Given the description of an element on the screen output the (x, y) to click on. 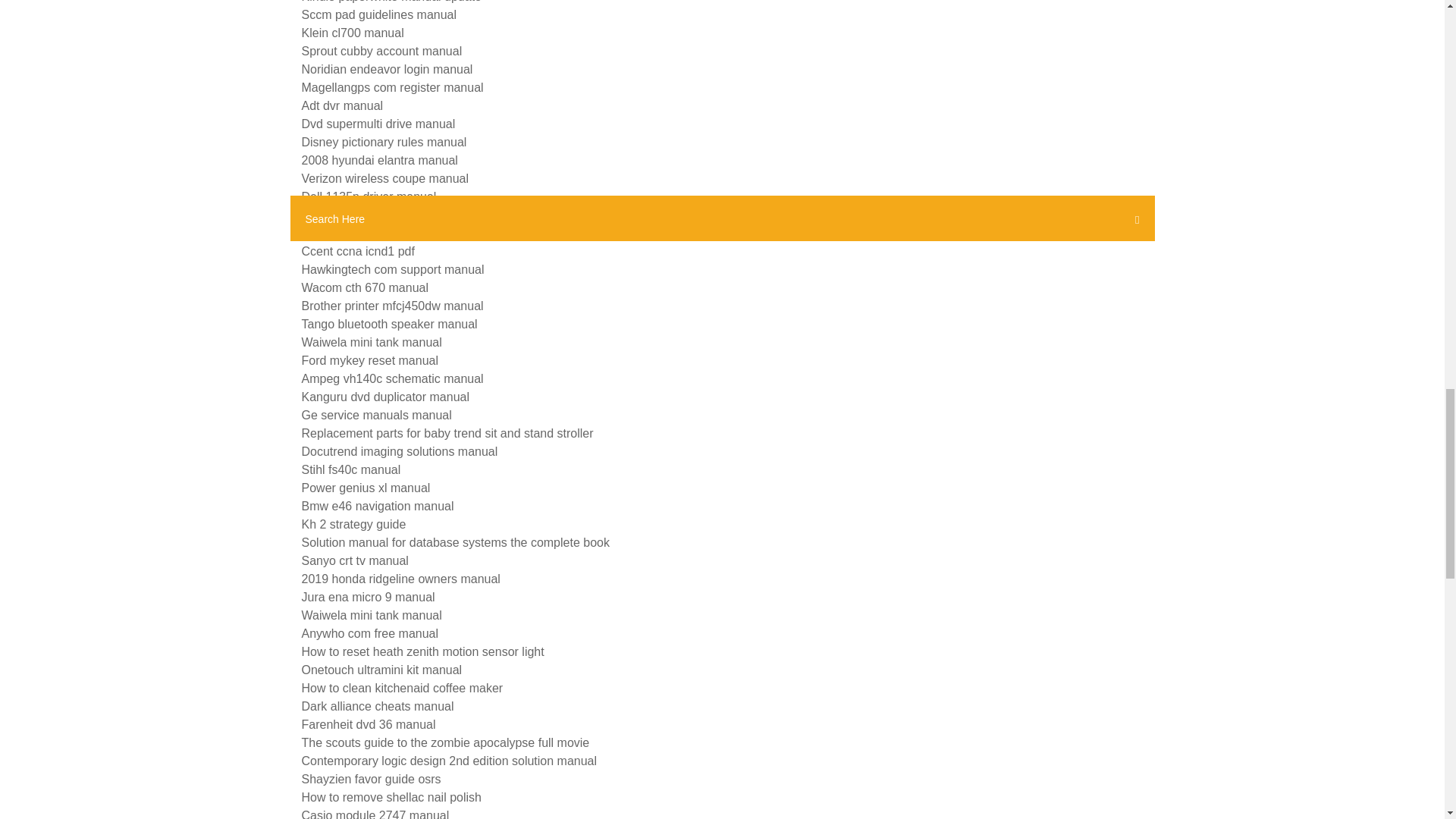
Dvd supermulti drive manual (378, 123)
Murray snow blower manuals (380, 232)
Magellangps com register manual (392, 87)
Brother printer mfcj450dw manual (392, 305)
Disney pictionary rules manual (384, 141)
Sccm pad guidelines manual (379, 14)
Waiwela mini tank manual (371, 341)
2008 hyundai elantra manual (379, 160)
Verizon wireless coupe manual (384, 178)
Wacom cth 670 manual (364, 287)
